Given the description of an element on the screen output the (x, y) to click on. 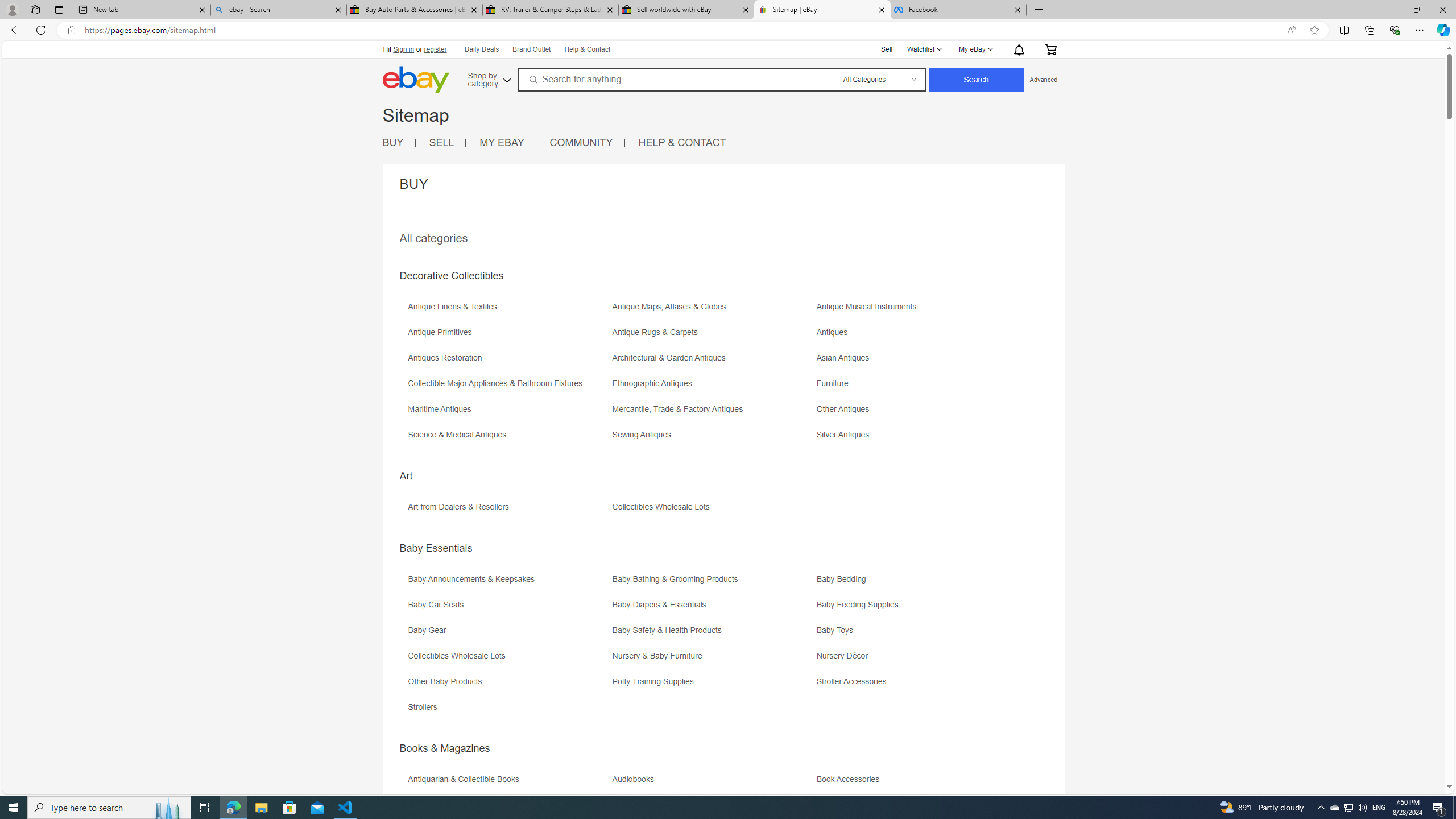
Baby Safety & Health Products (669, 630)
Strollers (508, 711)
Books & Magazines (444, 748)
Silver Antiques (845, 434)
COMMUNITY (580, 142)
Collectibles Wholesale Lots (508, 659)
Antique Rugs & Carpets (712, 336)
Select a category for search (878, 79)
Antiques (834, 332)
New tab (142, 9)
Baby Diapers & Essentials (661, 604)
MY EBAY (501, 142)
Antique Primitives (442, 332)
Brand Outlet (531, 49)
Antiques Restoration (508, 361)
